Given the description of an element on the screen output the (x, y) to click on. 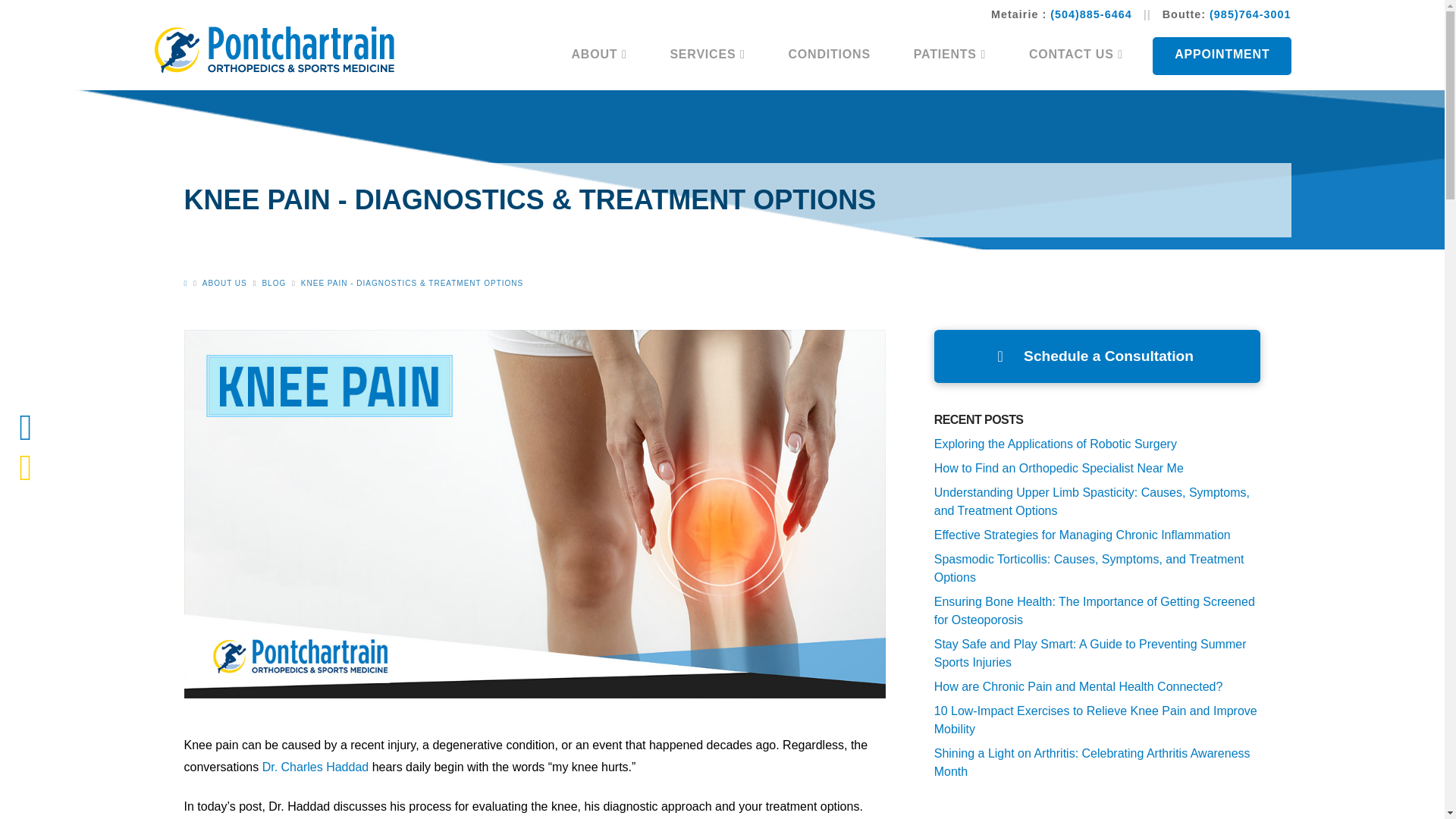
You Are Here (411, 283)
CONDITIONS (829, 56)
SERVICES (707, 56)
PATIENTS (949, 56)
CONTACT US (1065, 56)
ABOUT (598, 56)
APPOINTMENT (1221, 55)
